Given the description of an element on the screen output the (x, y) to click on. 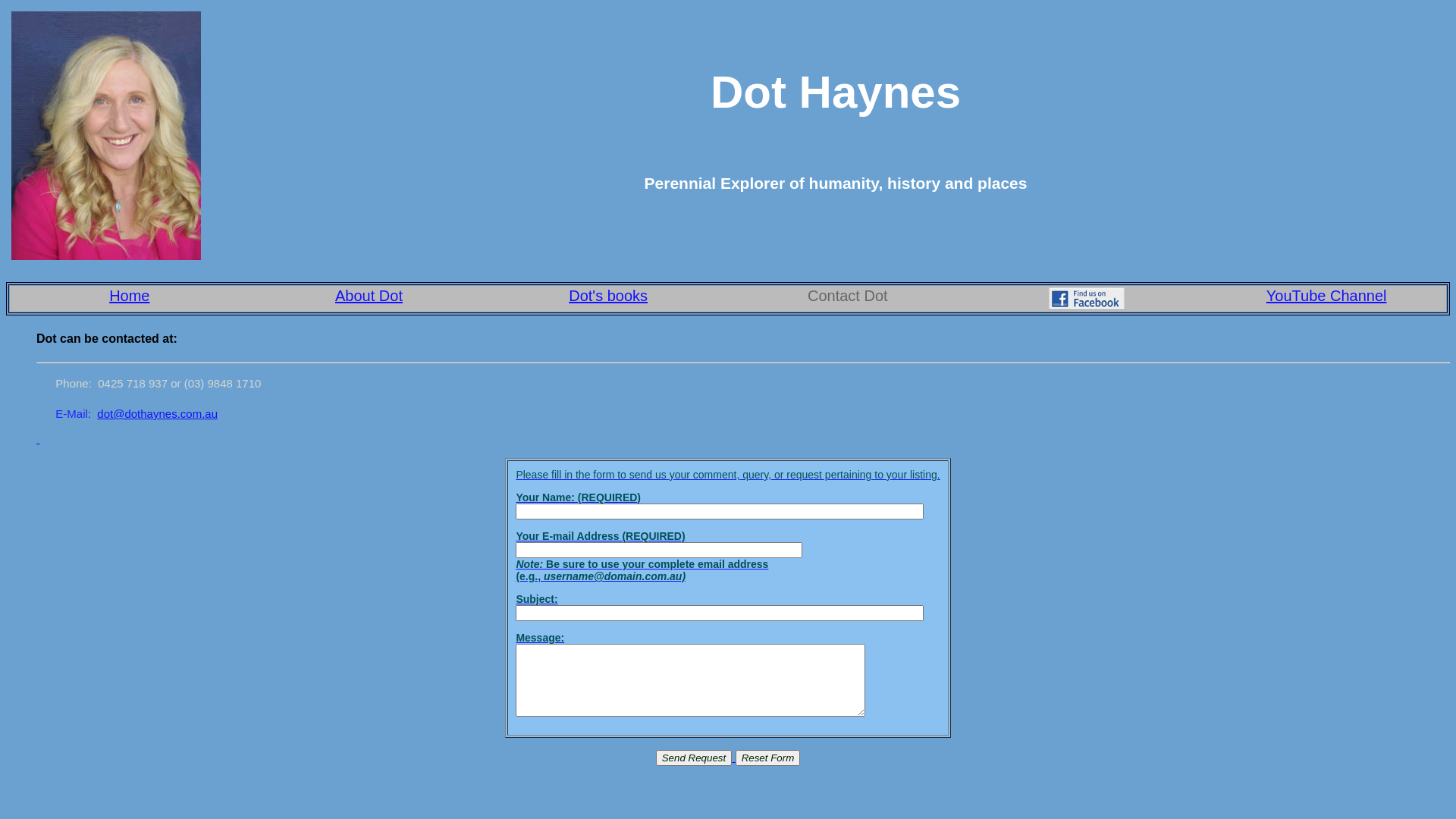
Facebook Page Element type: hover (1086, 304)
About Dot Element type: text (368, 295)
Home Element type: text (129, 295)
Send Request Element type: text (693, 757)
YouTube Channel Element type: text (1326, 295)
  Element type: text (742, 438)
Dot's books Element type: text (607, 295)
dot@dothaynes.com.au Element type: text (157, 413)
